Given the description of an element on the screen output the (x, y) to click on. 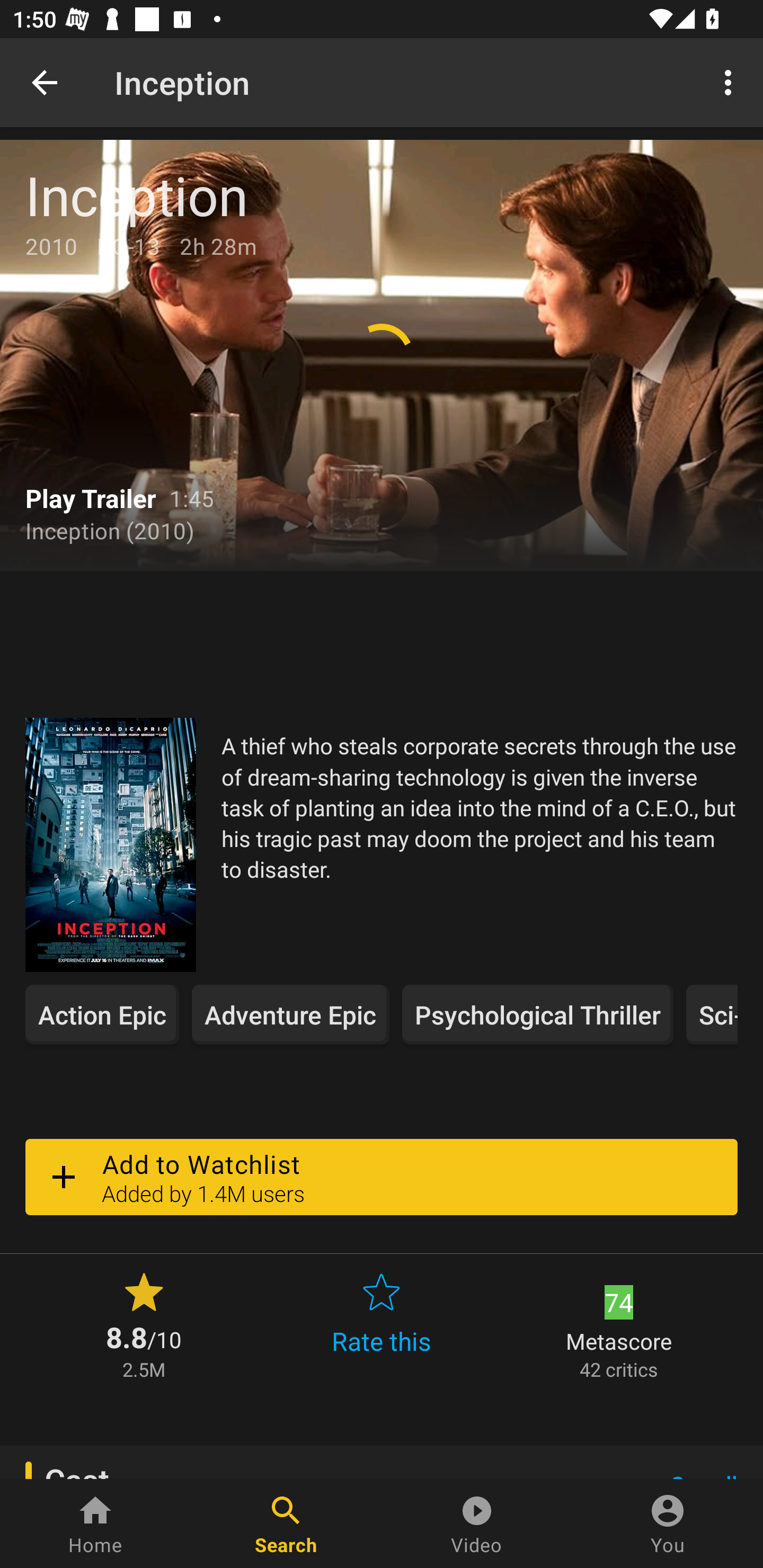
More options (731, 81)
toggle controls (381, 354)
Action Epic (102, 1014)
Adventure Epic (290, 1014)
Psychological Thriller (537, 1014)
Add to Watchlist Added by 1.4M users (381, 1176)
8.8 /10 2.5M (143, 1323)
Rate this (381, 1323)
74 Metascore 42 critics (618, 1323)
Home (95, 1523)
Video (476, 1523)
You (667, 1523)
